Given the description of an element on the screen output the (x, y) to click on. 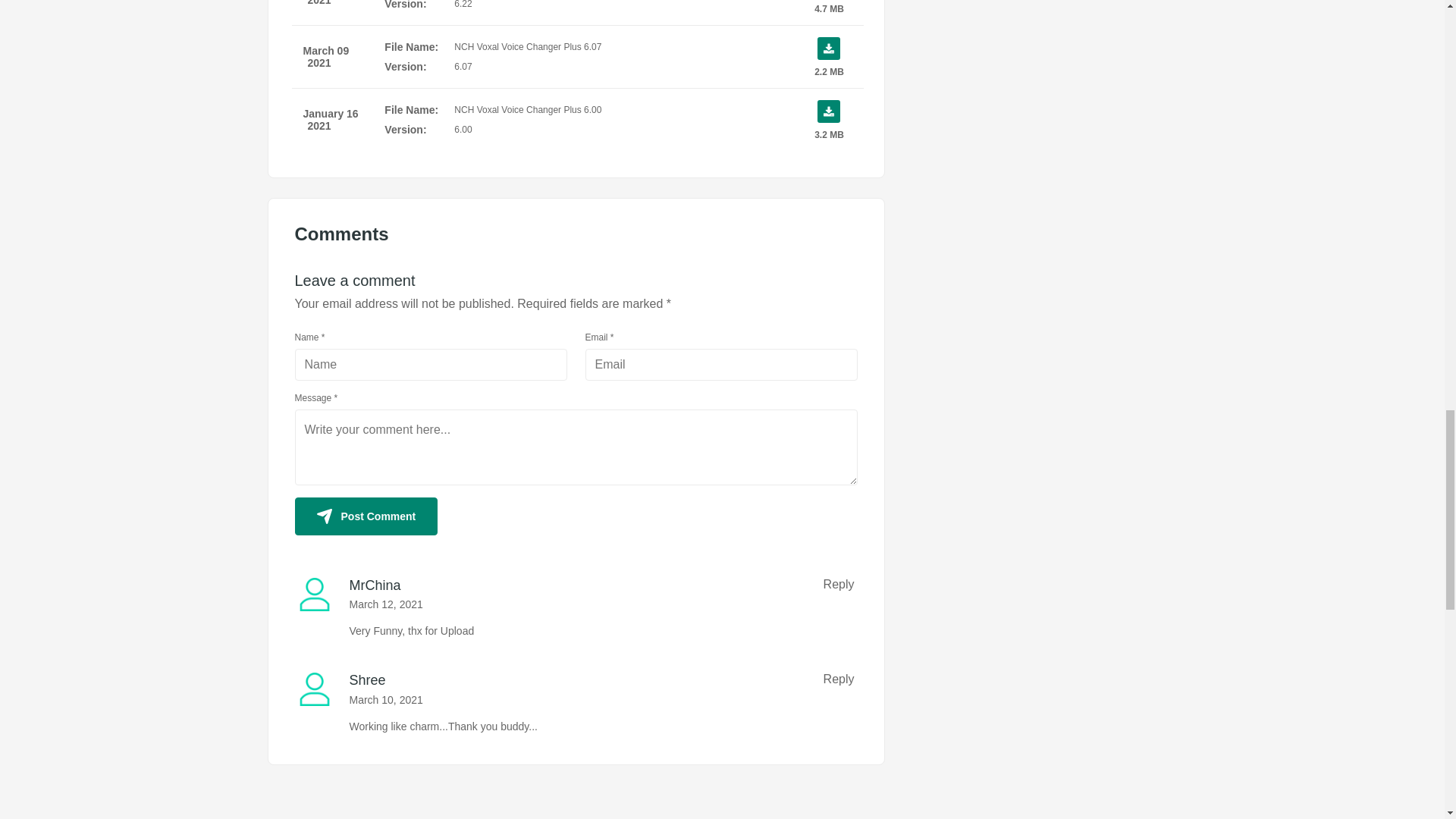
3.2 MB (828, 119)
2.2 MB (828, 56)
Reply (839, 679)
Reply (839, 584)
4.7 MB (828, 6)
Post Comment (366, 516)
